Given the description of an element on the screen output the (x, y) to click on. 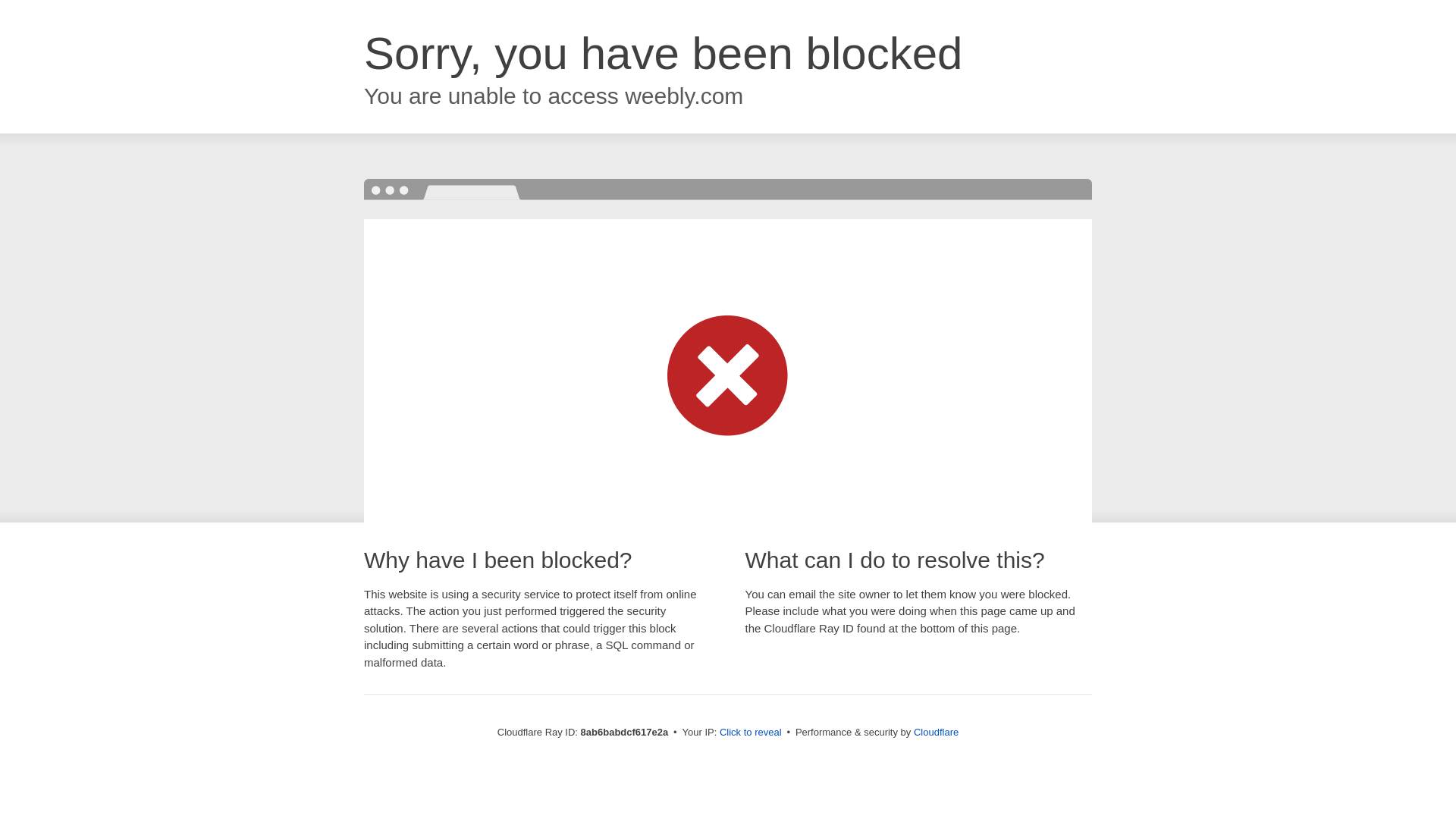
Click to reveal (750, 732)
Cloudflare (936, 731)
